Given the description of an element on the screen output the (x, y) to click on. 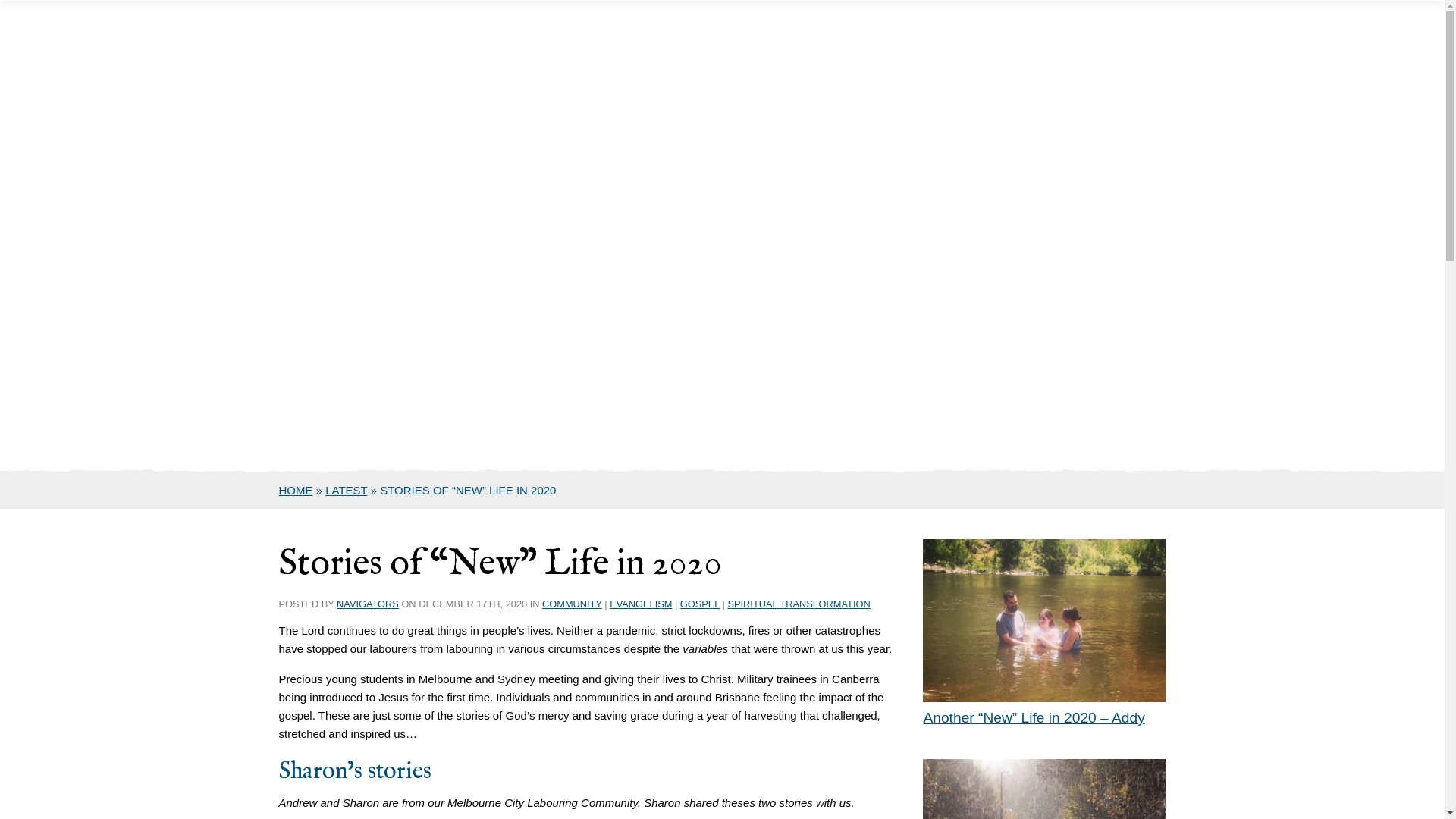
HOME Element type: text (296, 489)
SPIRITUAL TRANSFORMATION Element type: text (798, 603)
COMMUNITY Element type: text (572, 603)
NAVIGATORS Element type: text (367, 603)
GOSPEL Element type: text (699, 603)
LATEST Element type: text (346, 489)
EVANGELISM Element type: text (640, 603)
